Given the description of an element on the screen output the (x, y) to click on. 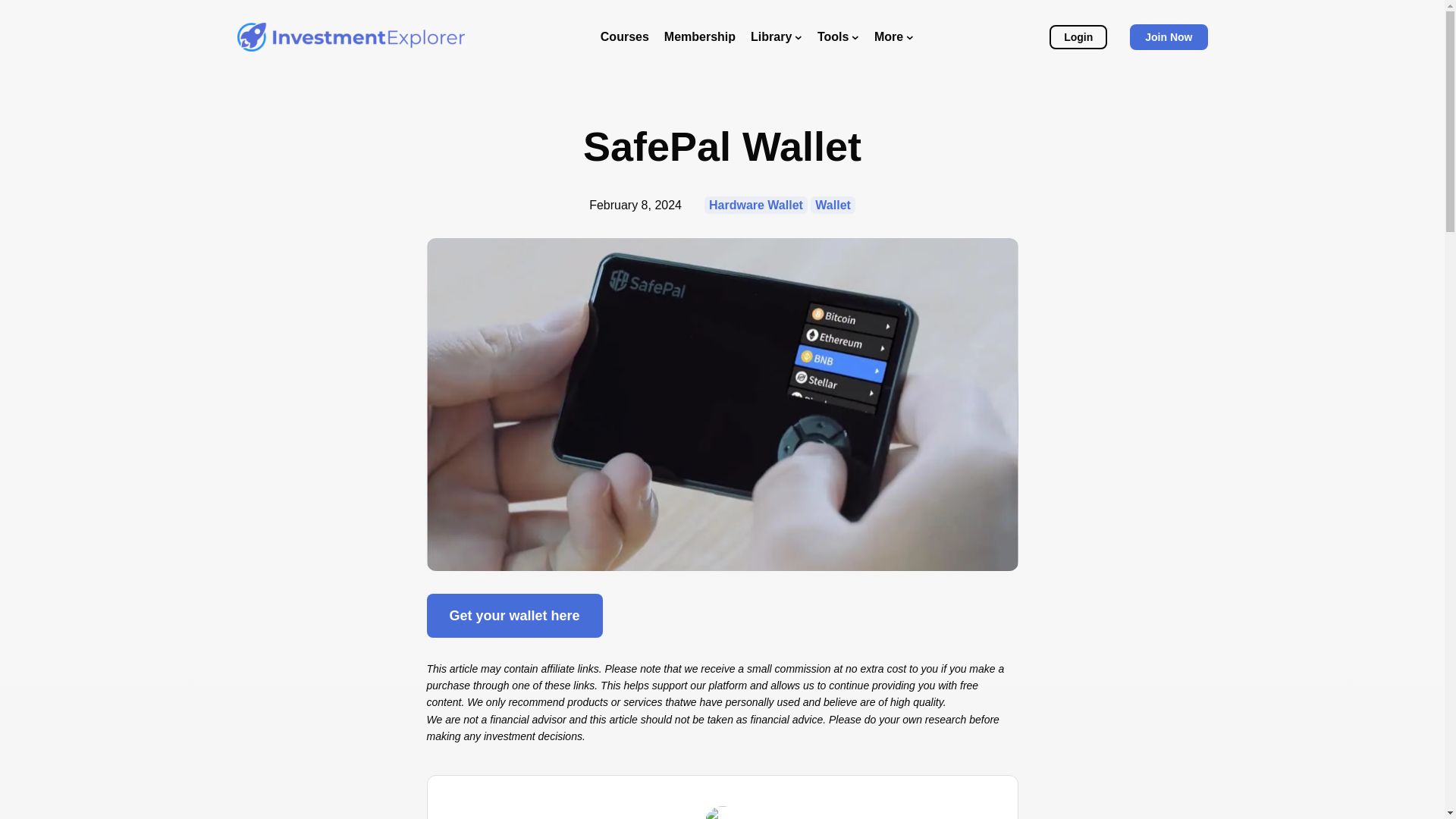
Hardware Wallet (756, 204)
Tools (837, 36)
Courses (624, 36)
Get your wallet here (514, 615)
Wallet (833, 204)
Join Now (1168, 36)
Membership (699, 36)
More (894, 36)
Login (1077, 37)
Library (776, 36)
